Given the description of an element on the screen output the (x, y) to click on. 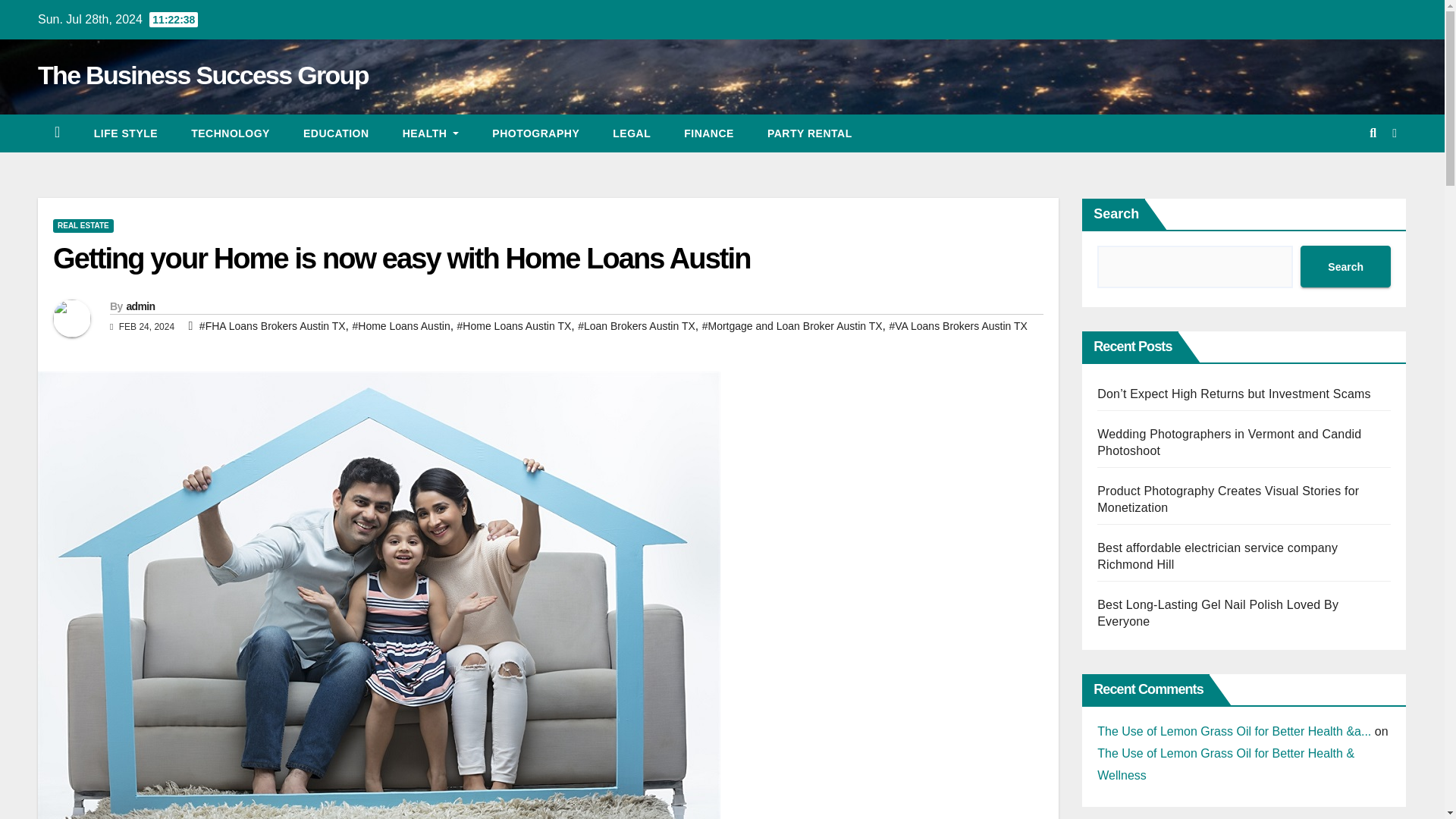
TECHNOLOGY (230, 133)
Life Style (125, 133)
admin (139, 306)
Technology (230, 133)
Photography (535, 133)
Health (430, 133)
PHOTOGRAPHY (535, 133)
FINANCE (708, 133)
Best Long-Lasting Gel Nail Polish Loved By Everyone (1217, 613)
Education (335, 133)
The Business Success Group (202, 74)
REAL ESTATE (82, 225)
LEGAL (630, 133)
Finance (708, 133)
PARTY RENTAL (810, 133)
